Given the description of an element on the screen output the (x, y) to click on. 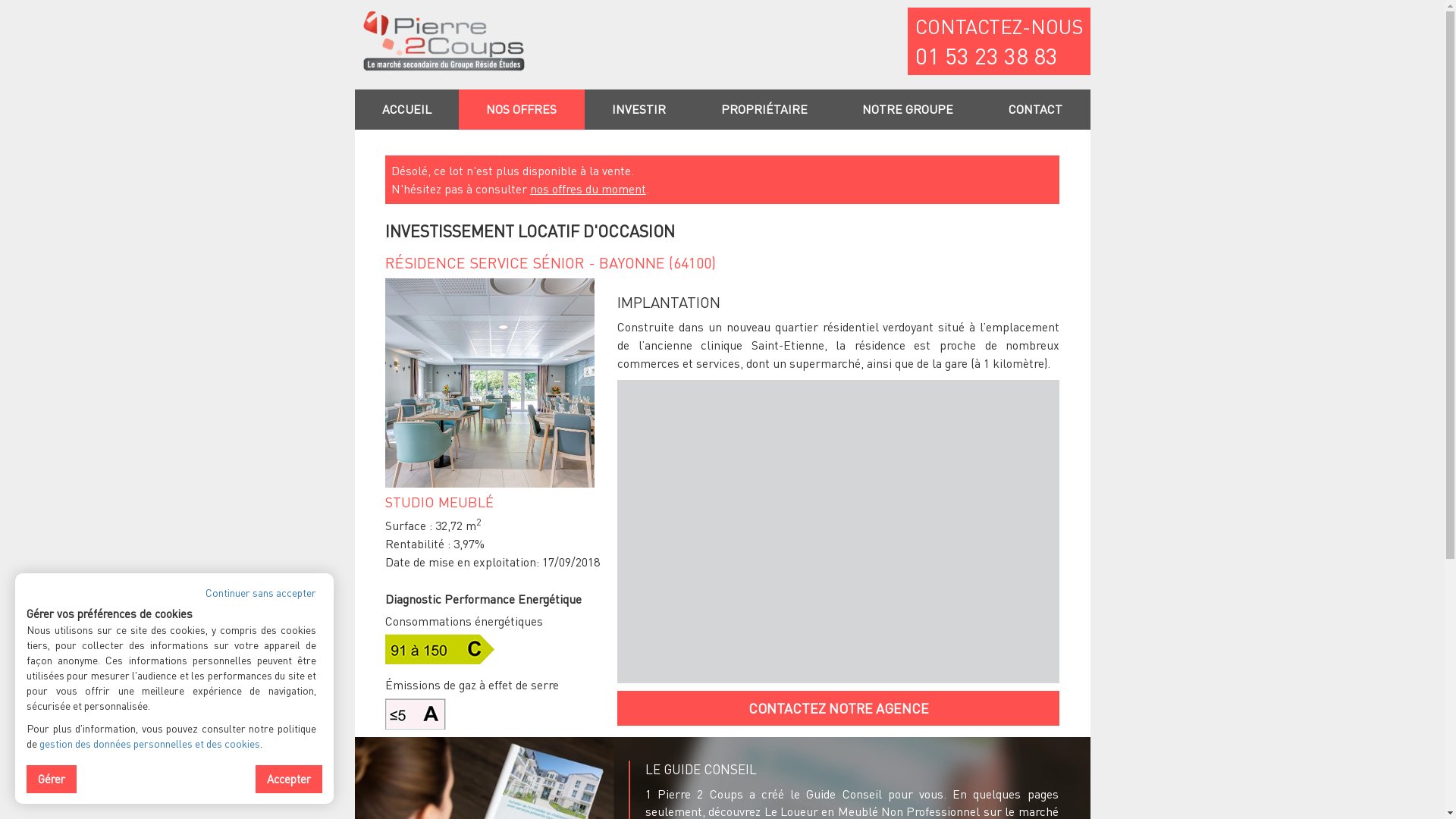
ACCUEIL Element type: text (406, 109)
Accepter Element type: text (288, 779)
INVESTIR Element type: text (638, 109)
NOS OFFRES Element type: text (521, 109)
nos offres du moment Element type: text (588, 188)
CONTACT Element type: text (1035, 109)
01 53 23 38 83 Element type: text (985, 56)
CONTACTEZ NOTRE AGENCE Element type: text (838, 707)
NOTRE GROUPE Element type: text (907, 109)
Continuer sans accepter Element type: text (260, 592)
